Given the description of an element on the screen output the (x, y) to click on. 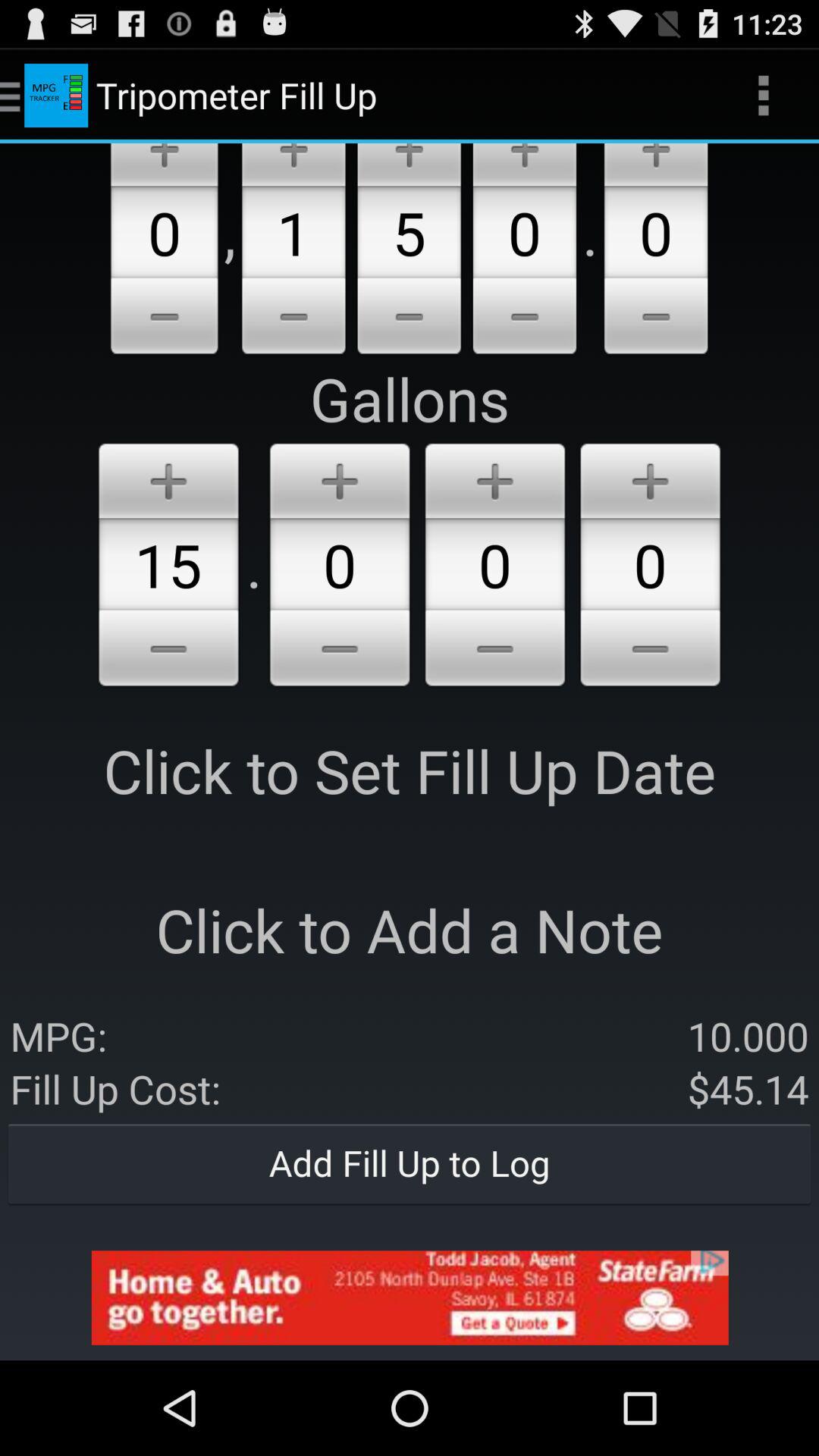
minus option (494, 651)
